Given the description of an element on the screen output the (x, y) to click on. 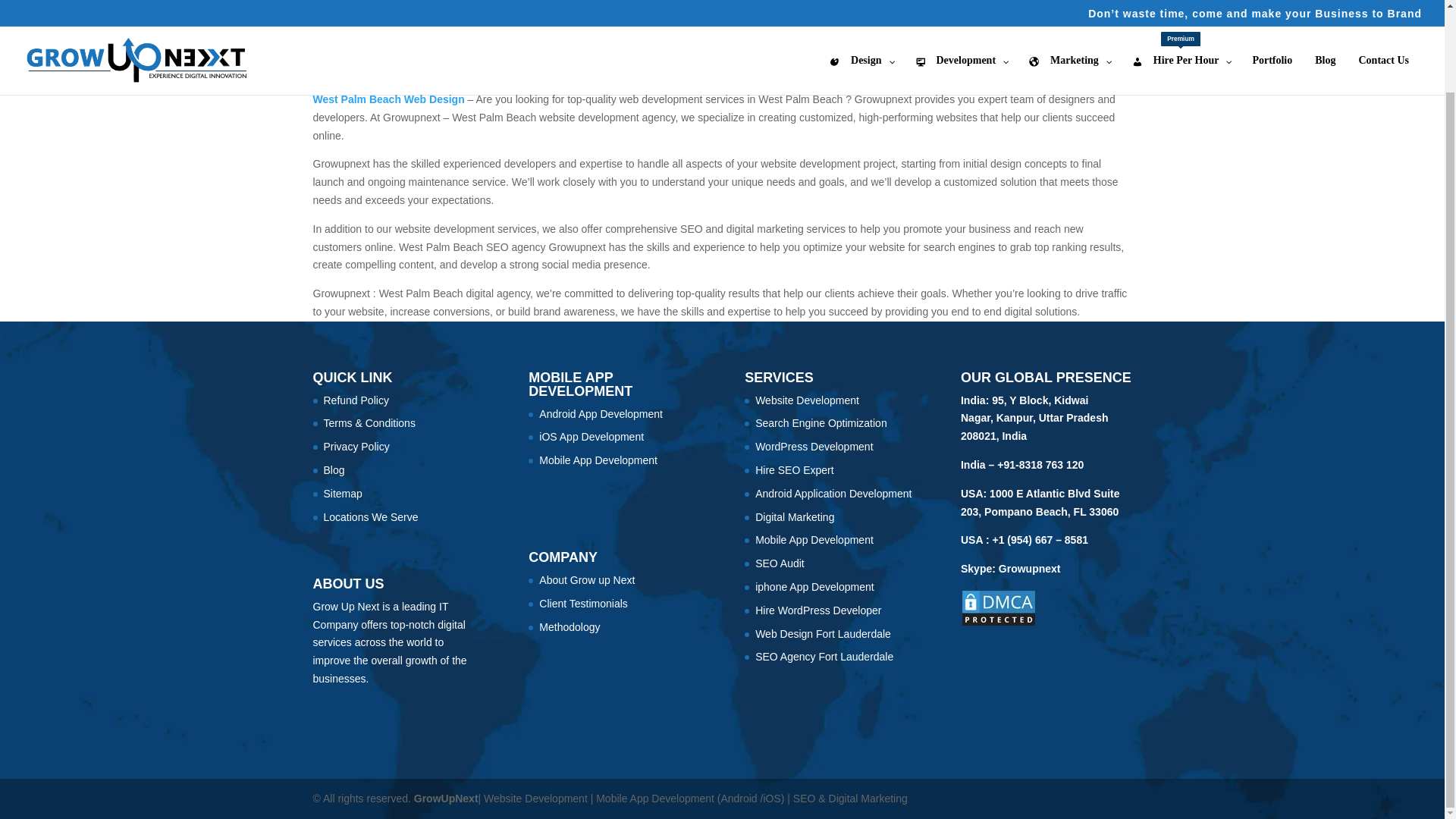
Design (860, 0)
Marketing (1069, 0)
Development (1181, 0)
